Given the description of an element on the screen output the (x, y) to click on. 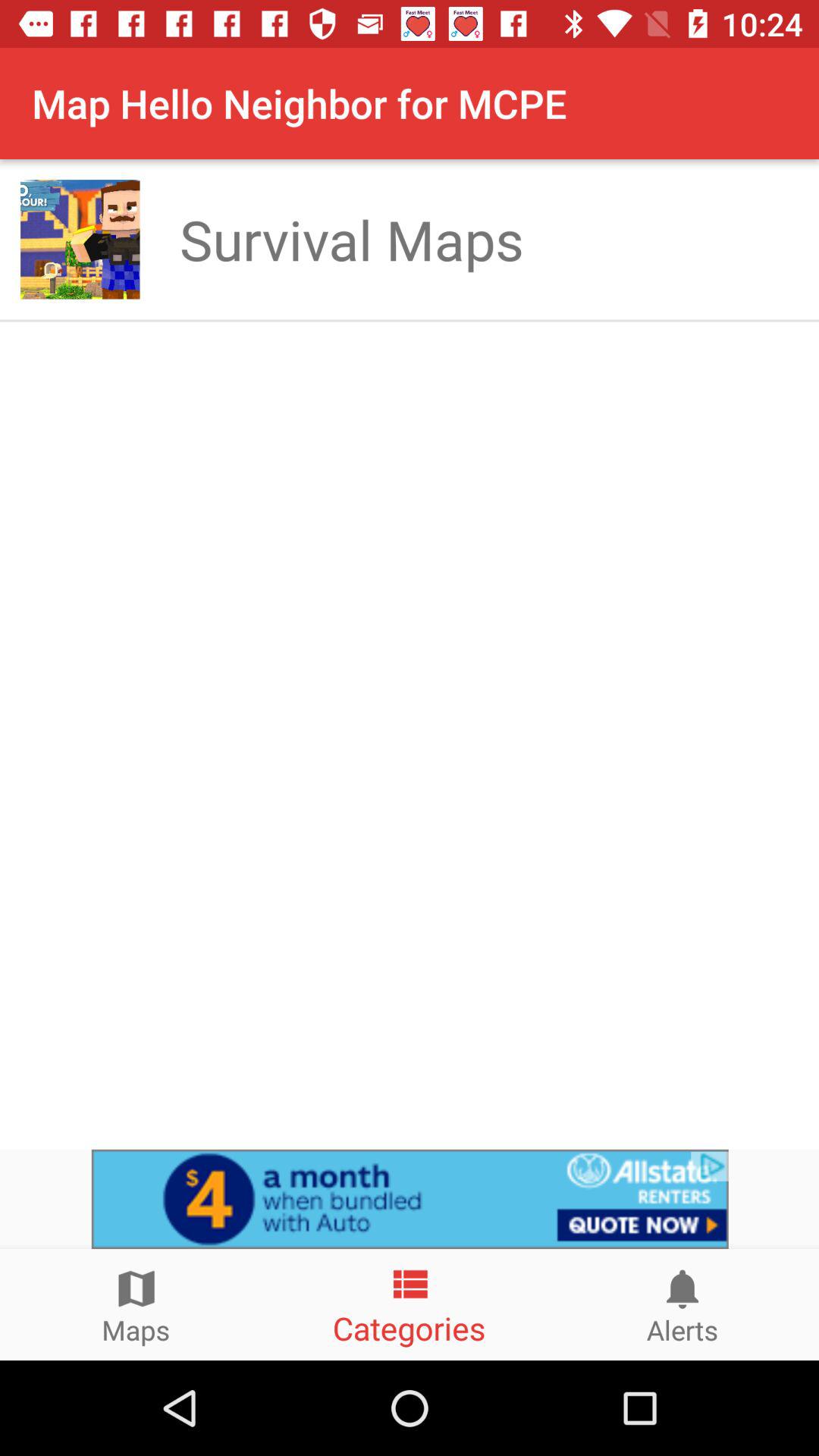
click for advertisement information (409, 1198)
